Given the description of an element on the screen output the (x, y) to click on. 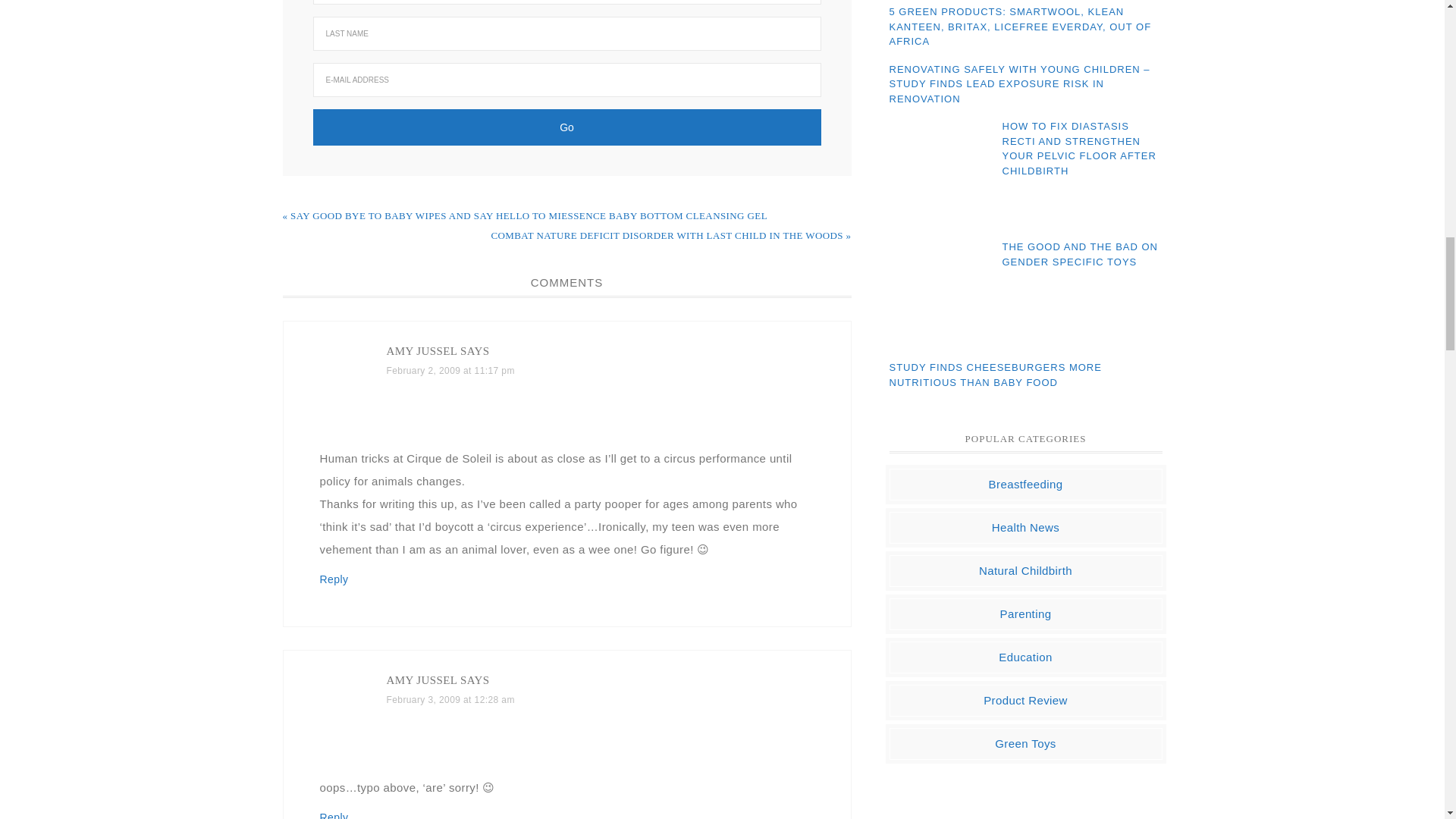
you may like cheap baby clothes here (1026, 810)
Reply (334, 579)
Go (567, 126)
Go (567, 126)
February 2, 2009 at 11:17 pm (451, 370)
Reply (334, 815)
February 3, 2009 at 12:28 am (451, 699)
